Given the description of an element on the screen output the (x, y) to click on. 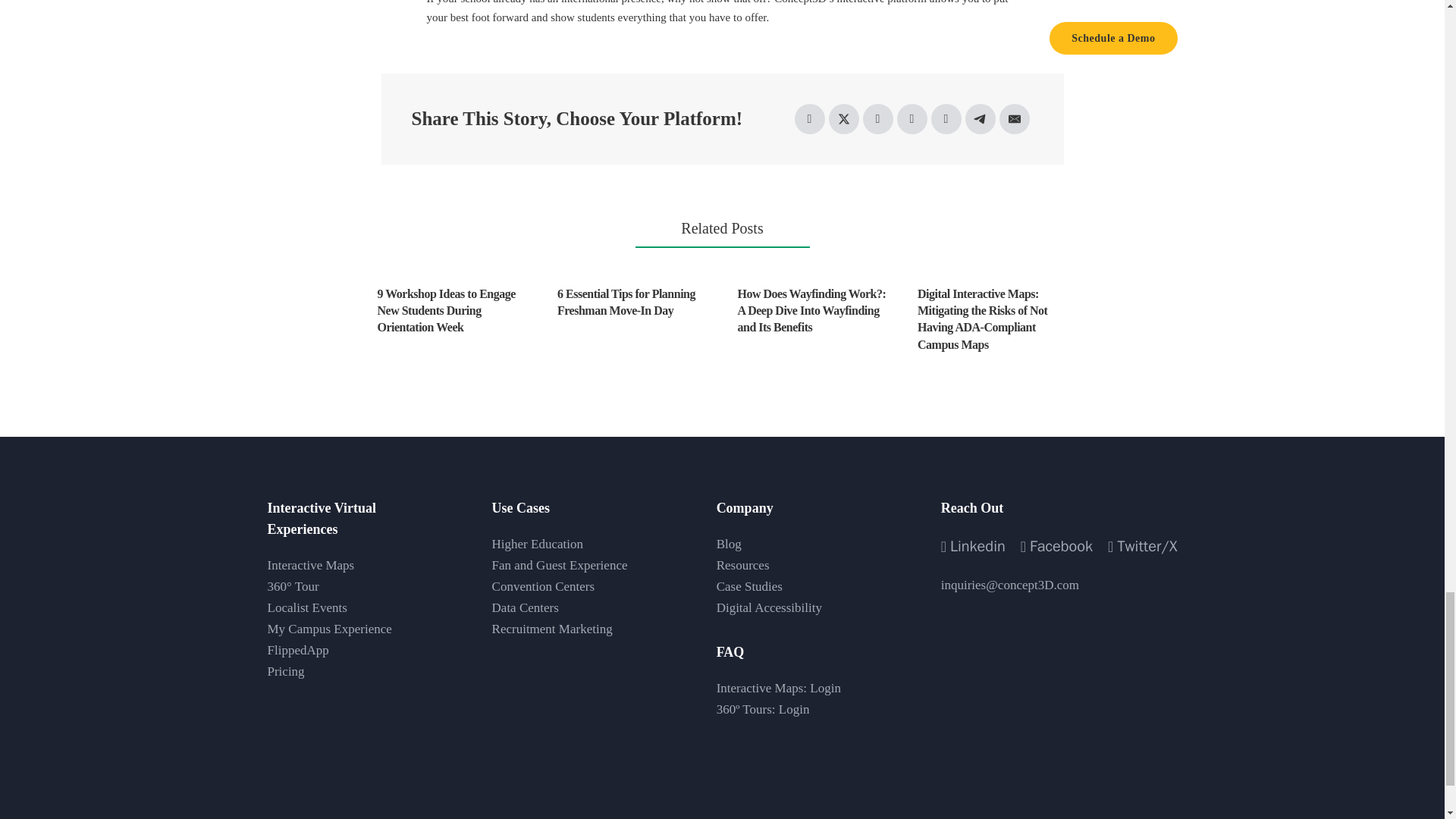
Visit Concept3D on LinkedIn (973, 546)
Visit Concept3D on Facebook (1056, 546)
Visit Concept3D on Twitter (1142, 546)
